Given the description of an element on the screen output the (x, y) to click on. 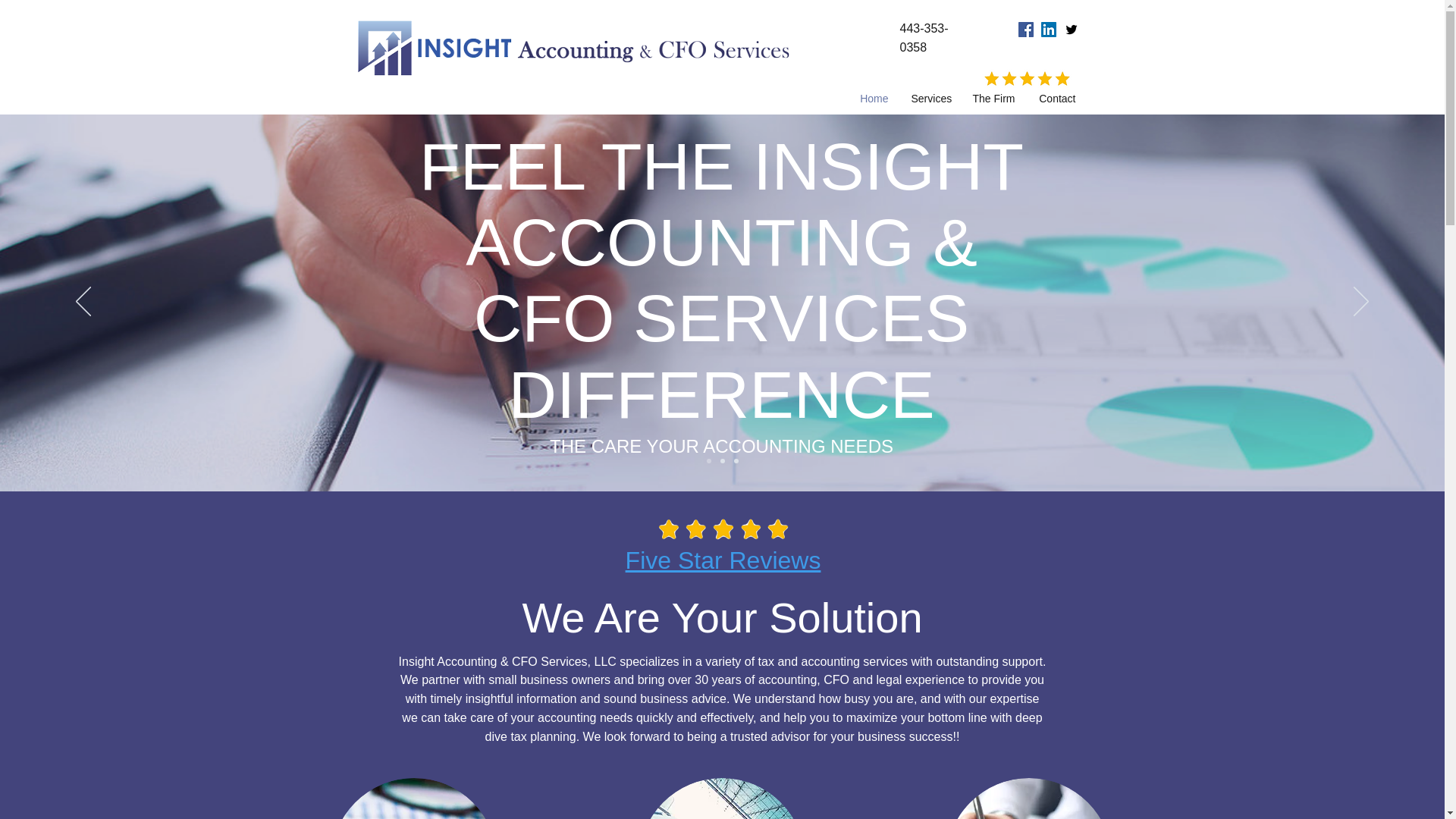
The Firm (993, 97)
Contact (1056, 97)
Services (929, 97)
Five Star Reviews (723, 560)
Home (873, 97)
